Given the description of an element on the screen output the (x, y) to click on. 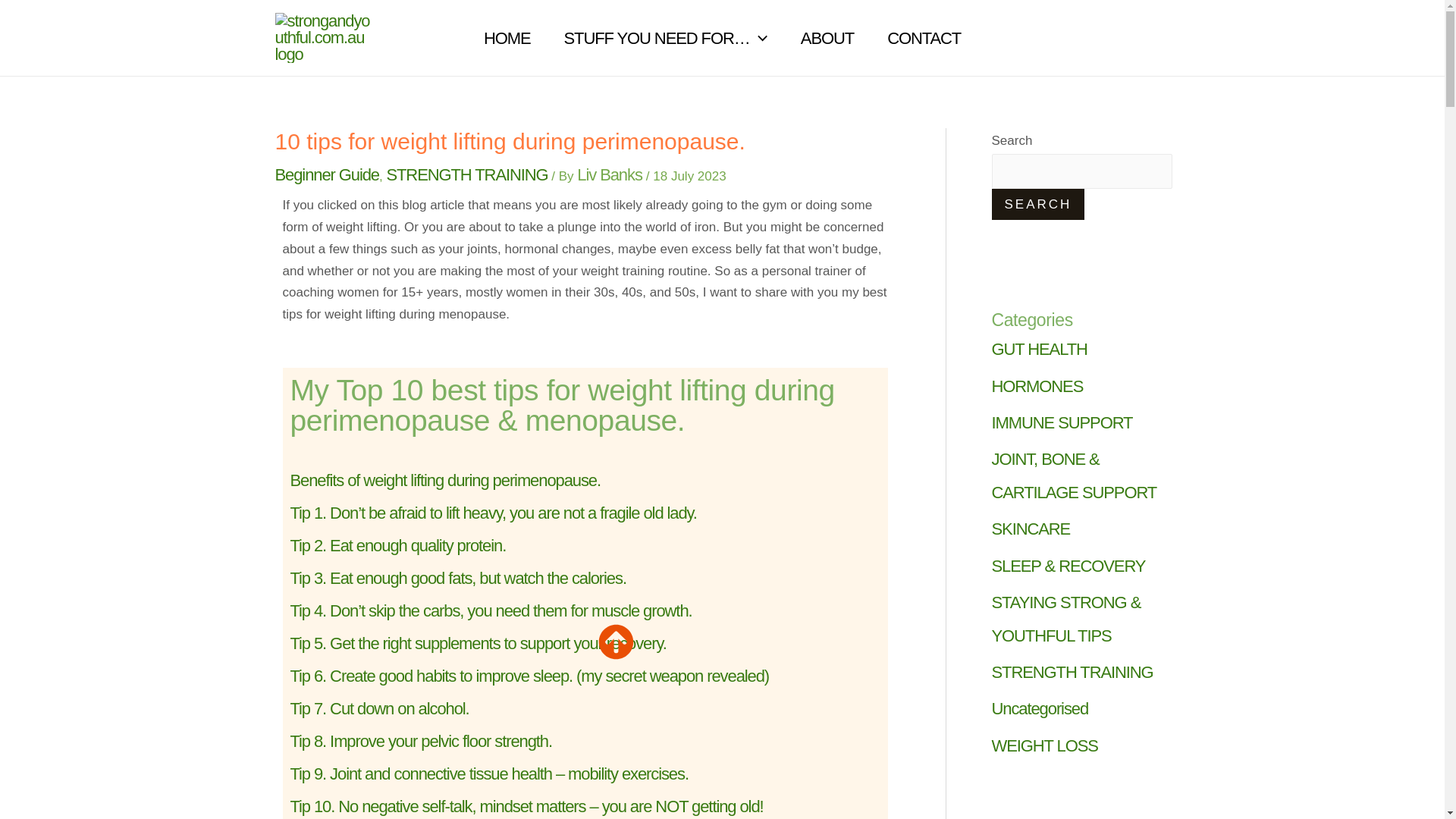
HOME (507, 38)
STRENGTH TRAINING (466, 174)
Liv Banks (611, 174)
Tip 5. Get the right supplements to support your recovery. (477, 642)
CONTACT (923, 38)
Tip 7. Cut down on alcohol. (378, 708)
ABOUT (827, 38)
Benefits of weight lifting during perimenopause. (444, 479)
View all posts by Liv Banks (611, 174)
Tip 2. Eat enough quality protein. (397, 545)
Tip 3. Eat enough good fats, but watch the calories. (457, 578)
Beginner Guide (326, 174)
Tip 8. Improve your pelvic floor strength. (420, 741)
